Given the description of an element on the screen output the (x, y) to click on. 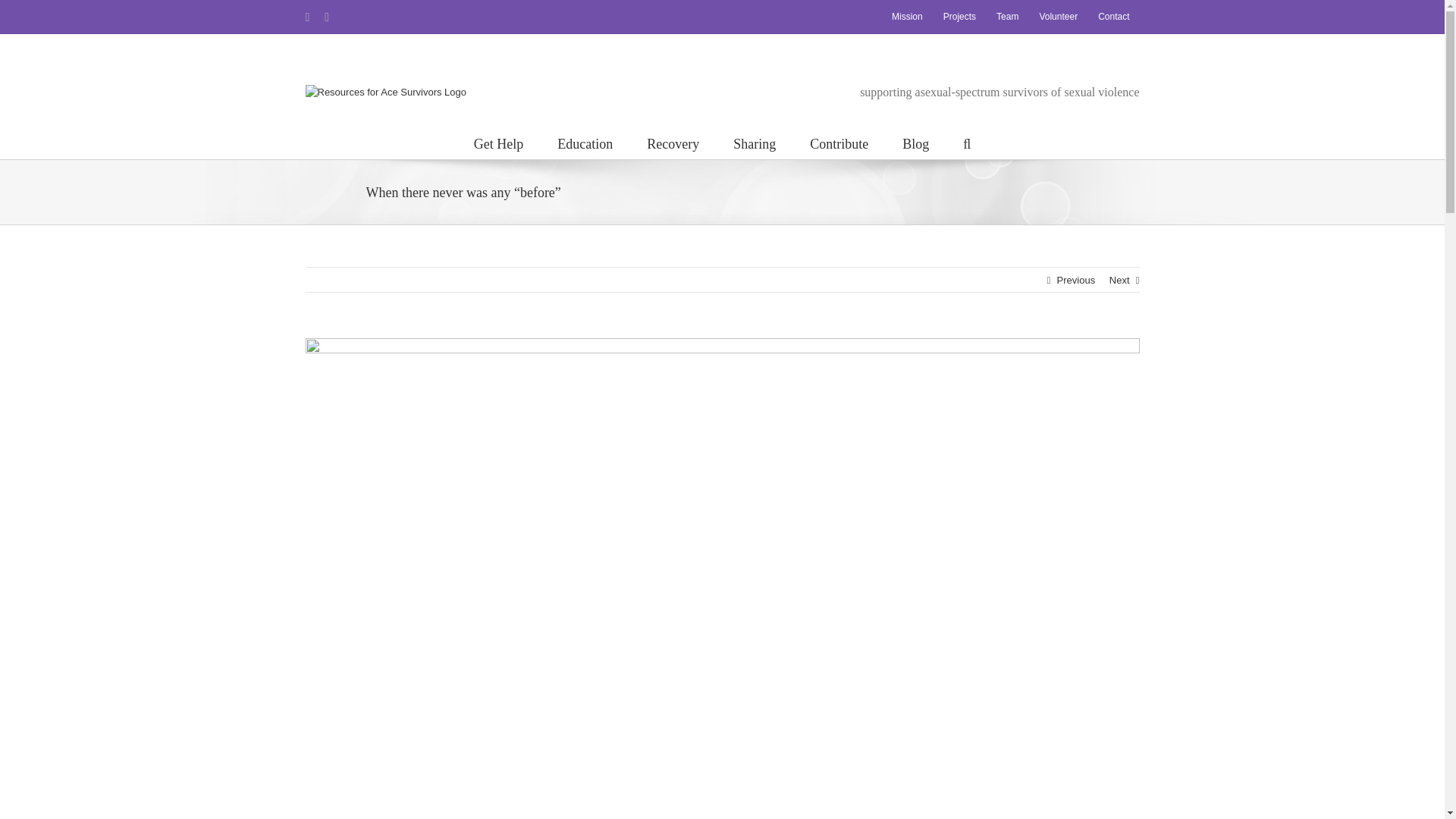
Projects (959, 16)
Recovery (672, 142)
Volunteer (1058, 16)
Get Help (498, 142)
Mission (907, 16)
Contribute (838, 142)
Education (584, 142)
Sharing (754, 142)
Contact (1112, 16)
Team (1007, 16)
